Given the description of an element on the screen output the (x, y) to click on. 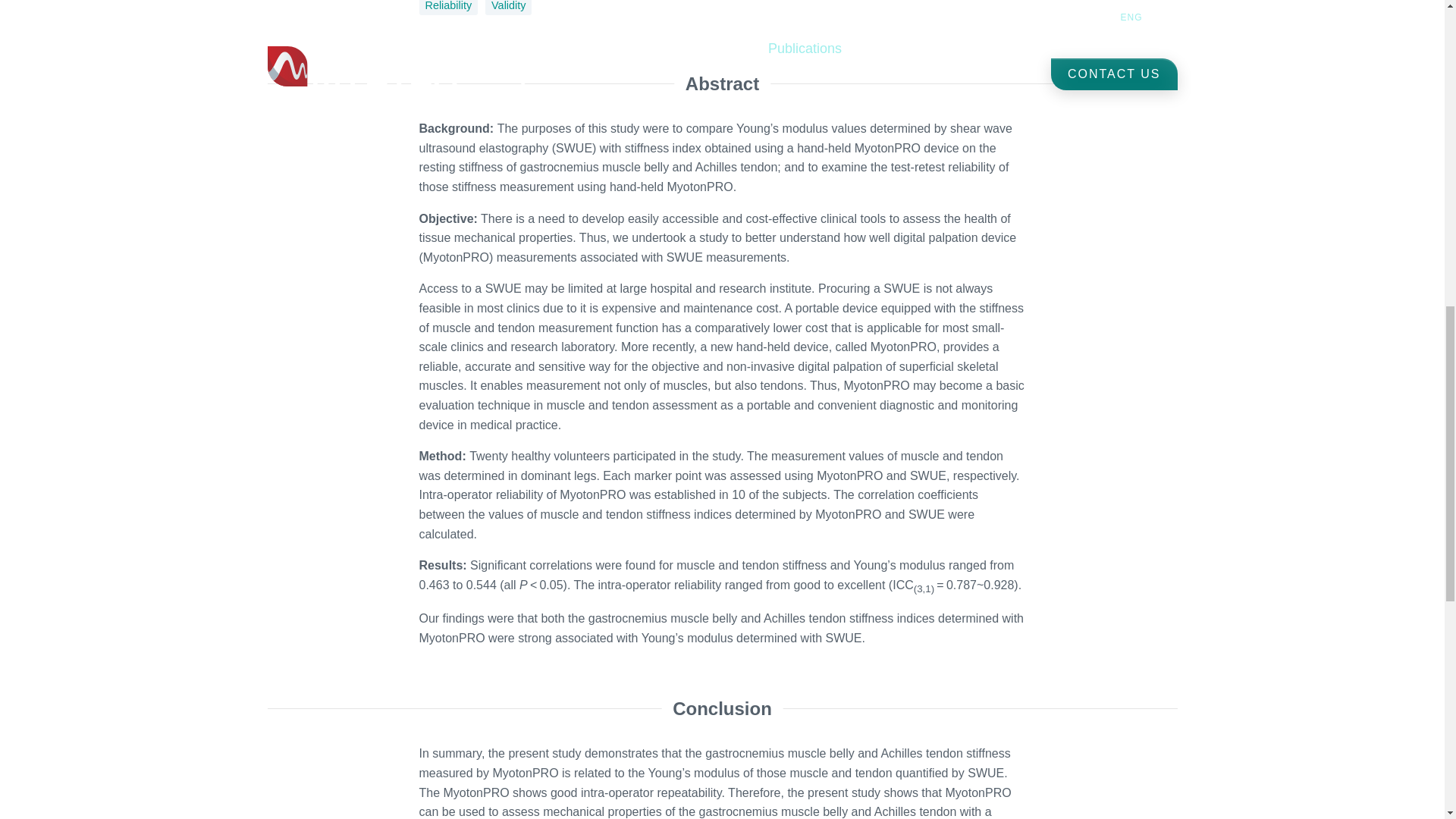
Reliability (448, 7)
Validity (507, 7)
